Given the description of an element on the screen output the (x, y) to click on. 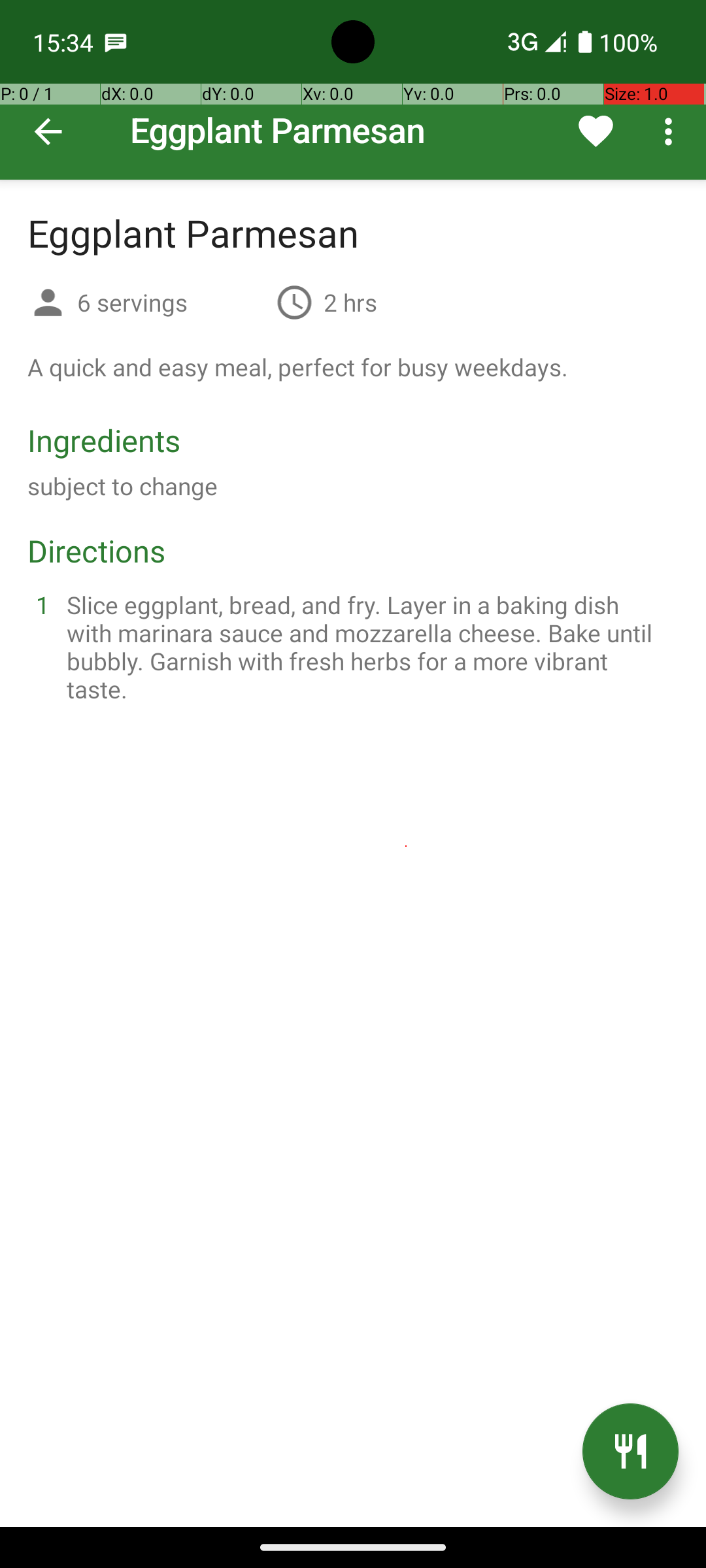
2 hrs Element type: android.widget.TextView (350, 301)
Slice eggplant, bread, and fry. Layer in a baking dish with marinara sauce and mozzarella cheese. Bake until bubbly. Garnish with fresh herbs for a more vibrant taste. Element type: android.widget.TextView (368, 646)
